Given the description of an element on the screen output the (x, y) to click on. 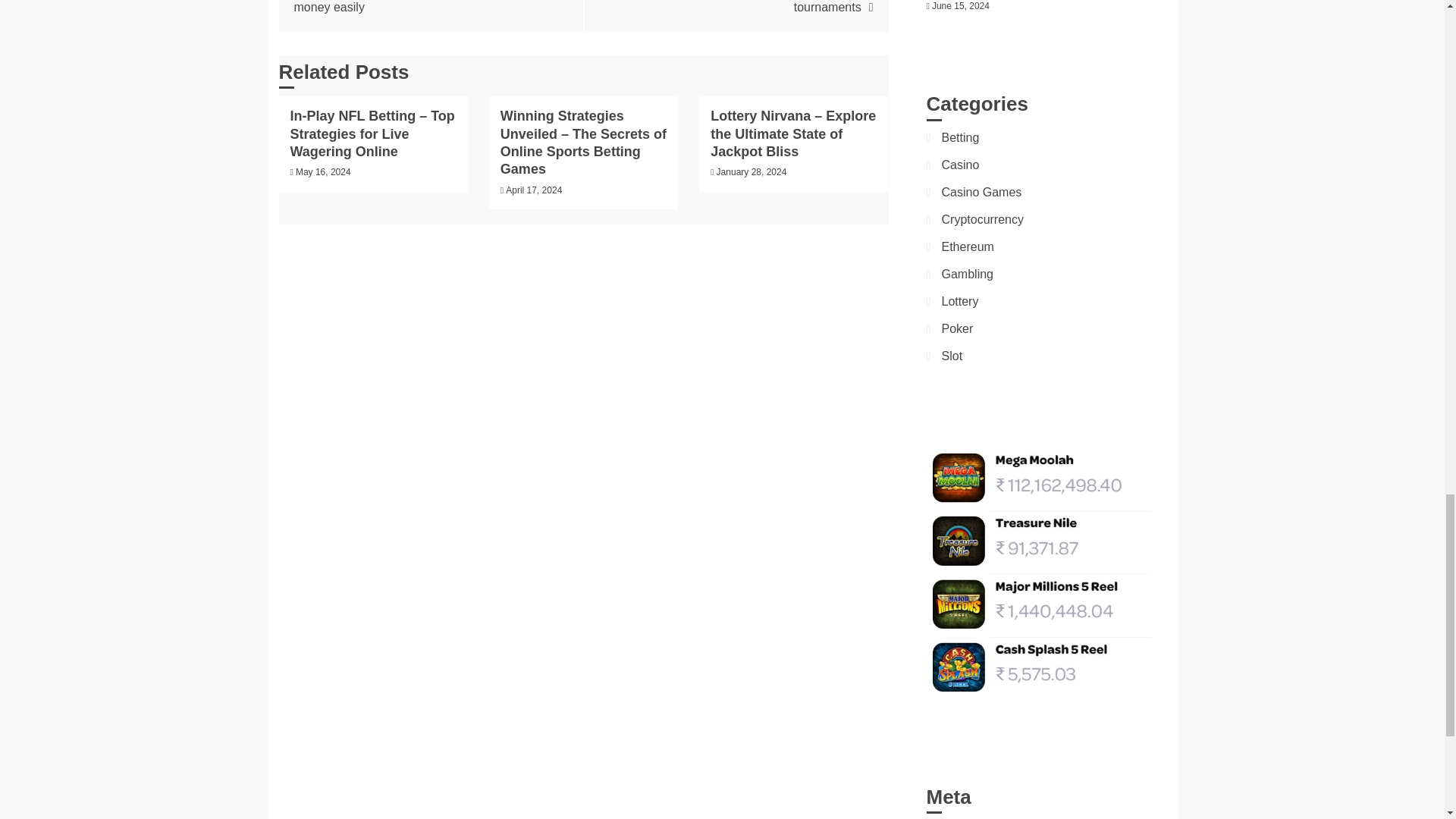
January 28, 2024 (751, 172)
April 17, 2024 (533, 190)
The best game in the gambling club to win money easily (414, 6)
May 16, 2024 (322, 172)
Making up your mind to win online poker tournaments (764, 6)
